Given the description of an element on the screen output the (x, y) to click on. 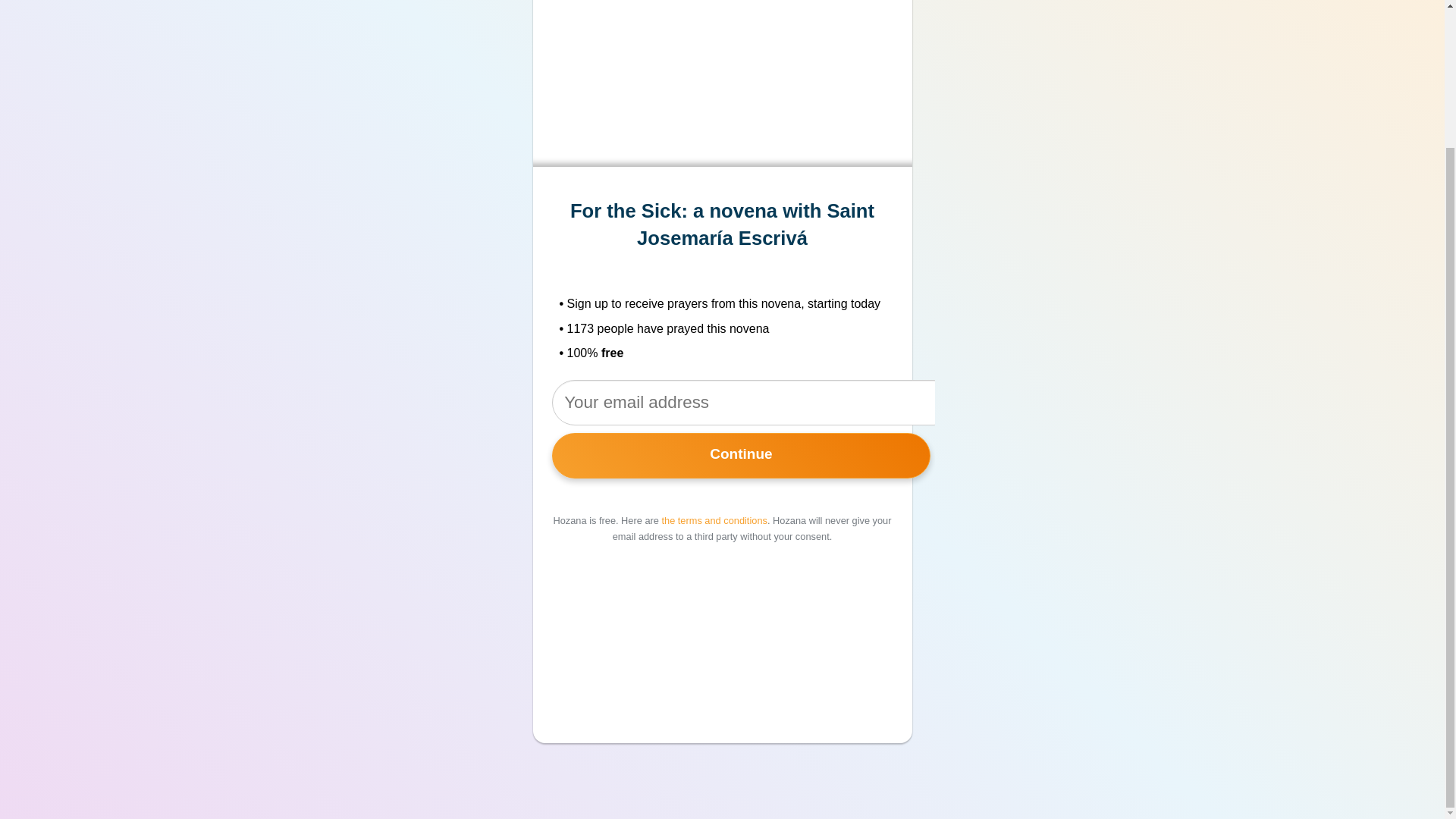
the terms and conditions (714, 520)
Continue (741, 456)
